Given the description of an element on the screen output the (x, y) to click on. 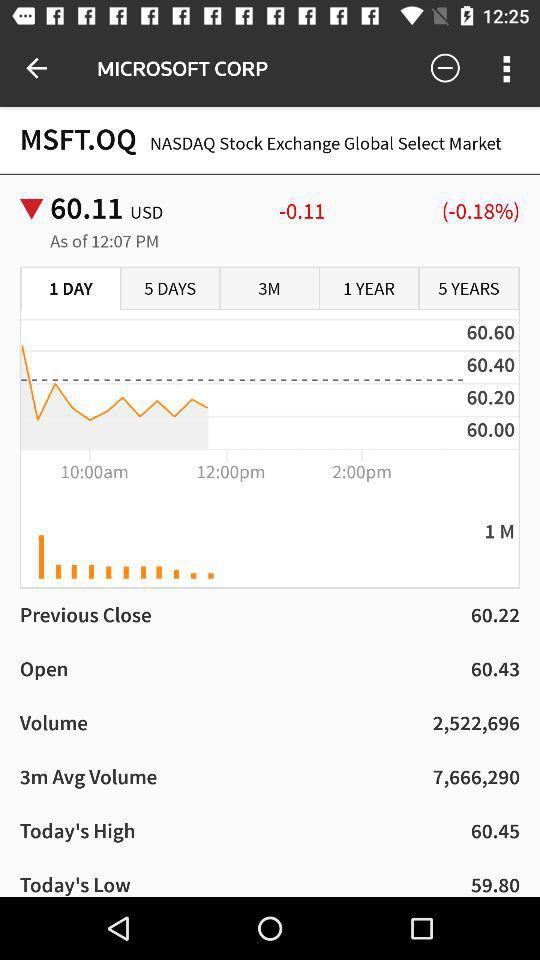
tap item below -0.11 item (468, 289)
